Given the description of an element on the screen output the (x, y) to click on. 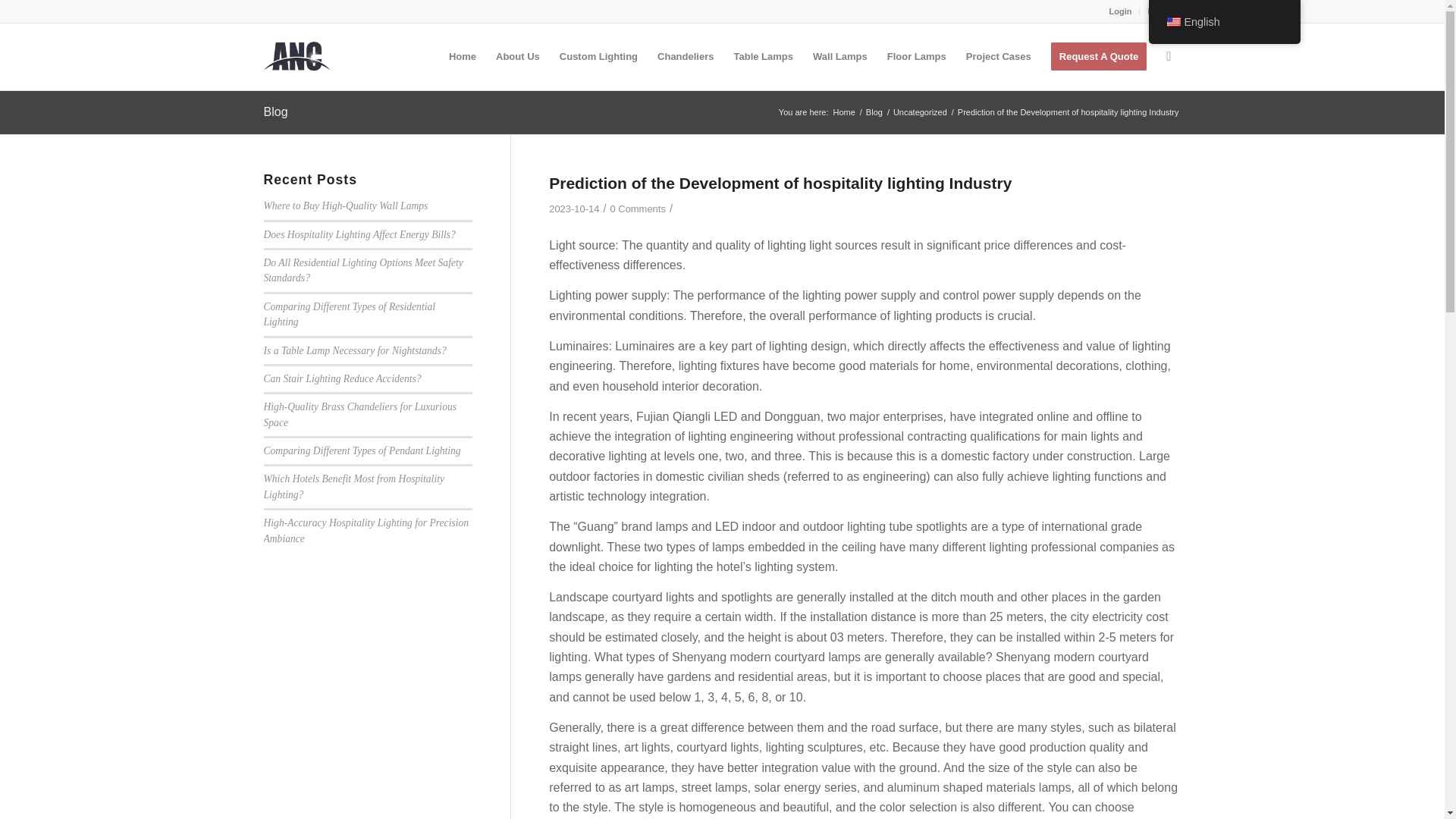
About Us (518, 56)
Floor Lamps (916, 56)
Table Lamps (763, 56)
Wall Lamps (840, 56)
Custom Lighting (598, 56)
LOGO (296, 56)
Blog (874, 112)
Permanent Link: Blog (275, 111)
Chandeliers (685, 56)
Login (1120, 11)
Register (1163, 11)
ANC Lighting (844, 112)
